Given the description of an element on the screen output the (x, y) to click on. 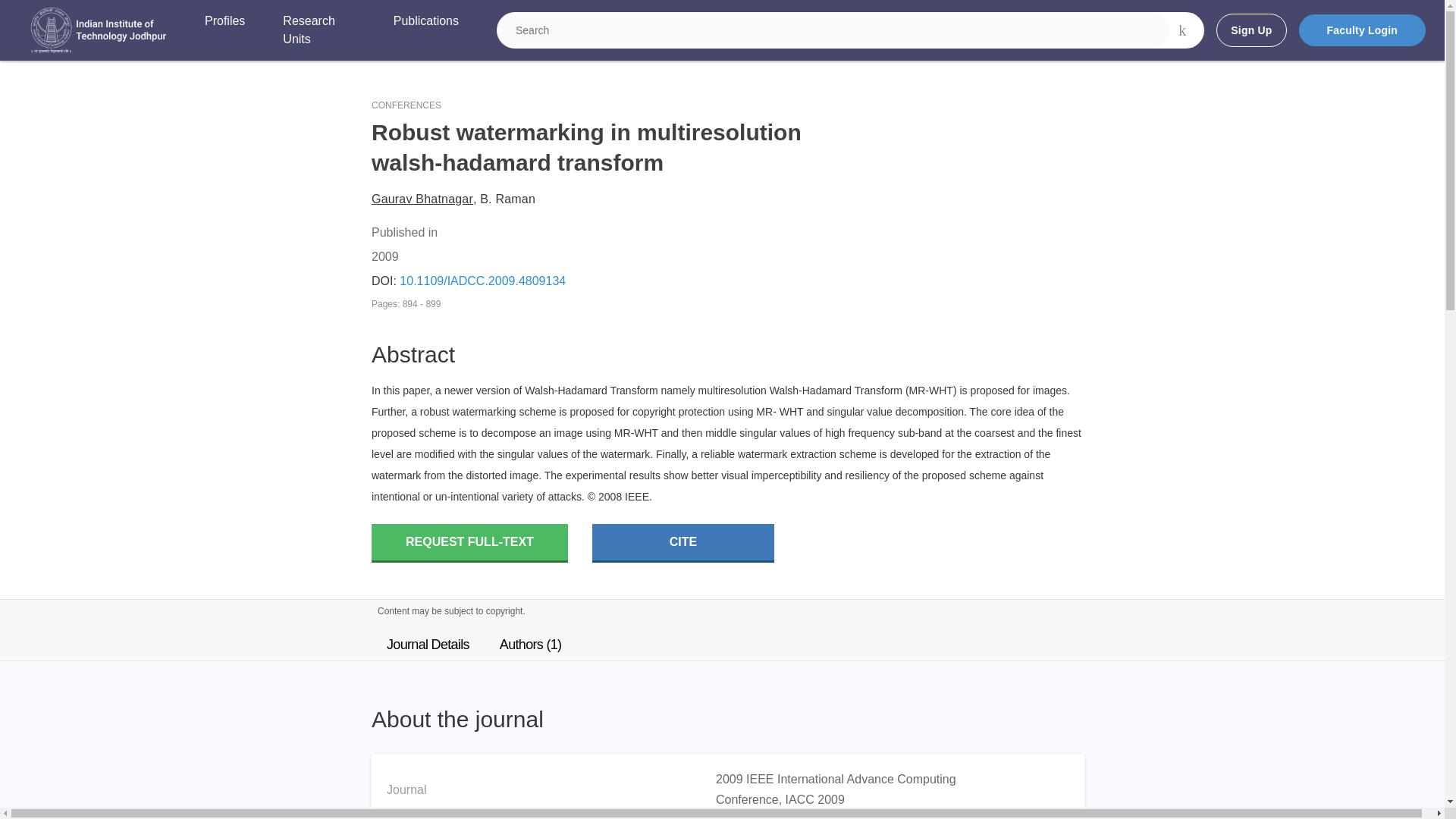
CITE (683, 543)
Institution logo (98, 30)
Journal Details (427, 644)
Faculty Login (1361, 29)
Sign Up (1250, 29)
Gaurav Bhatnagar (422, 198)
Profiles (224, 30)
REQUEST FULL-TEXT (469, 543)
Publications (425, 30)
Research Units (318, 30)
